Given the description of an element on the screen output the (x, y) to click on. 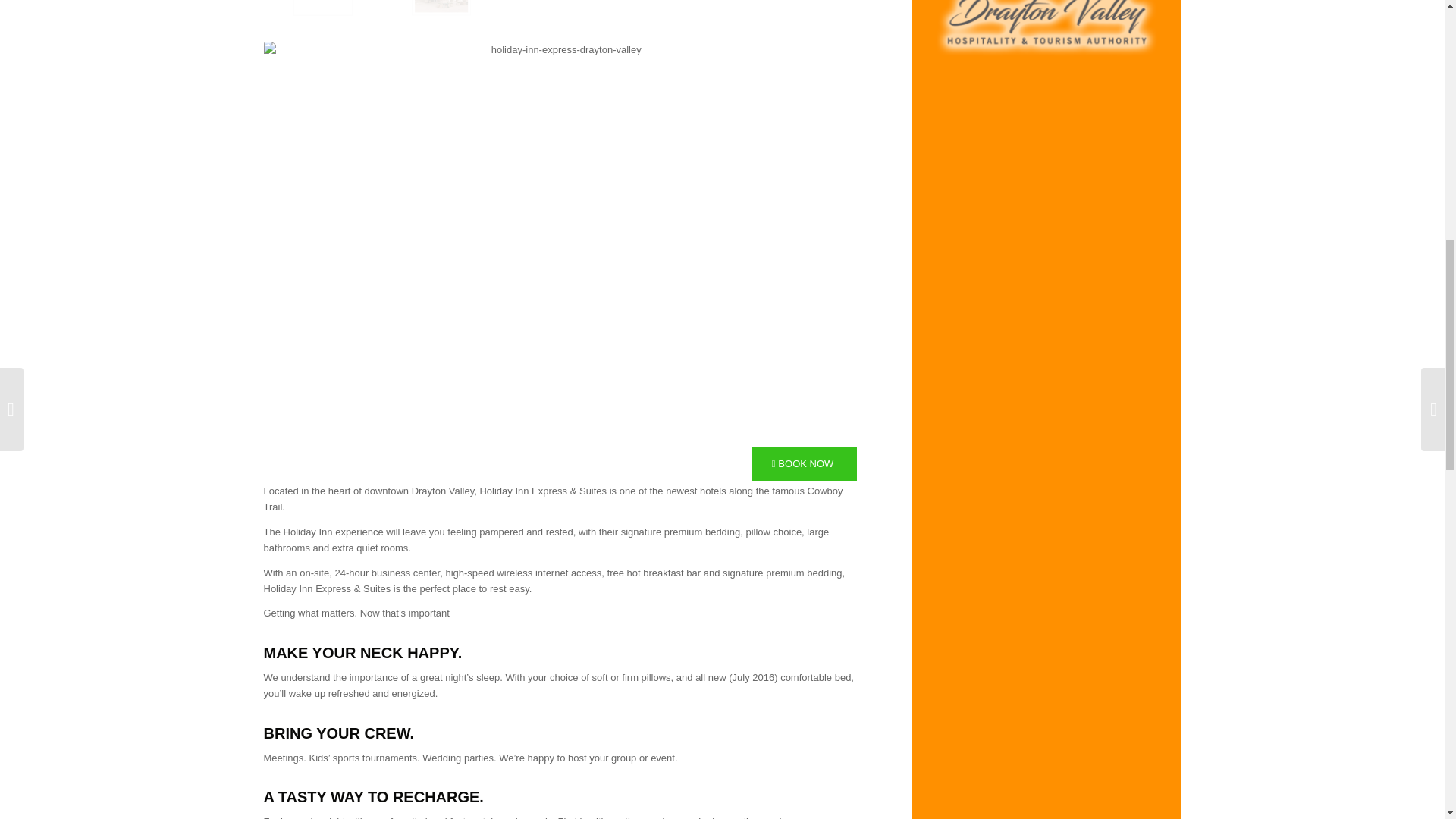
BOOK NOW (804, 463)
